Given the description of an element on the screen output the (x, y) to click on. 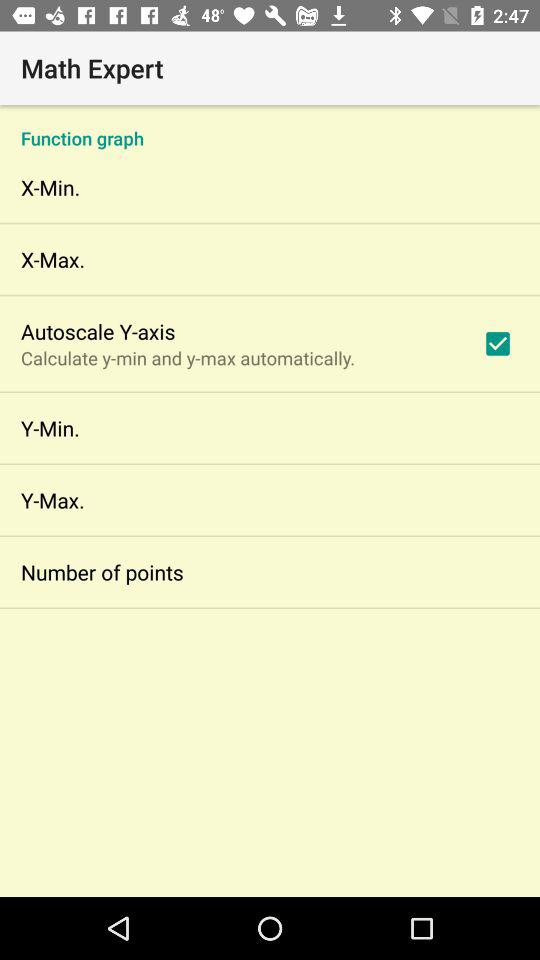
jump to autoscale y-axis app (98, 331)
